Given the description of an element on the screen output the (x, y) to click on. 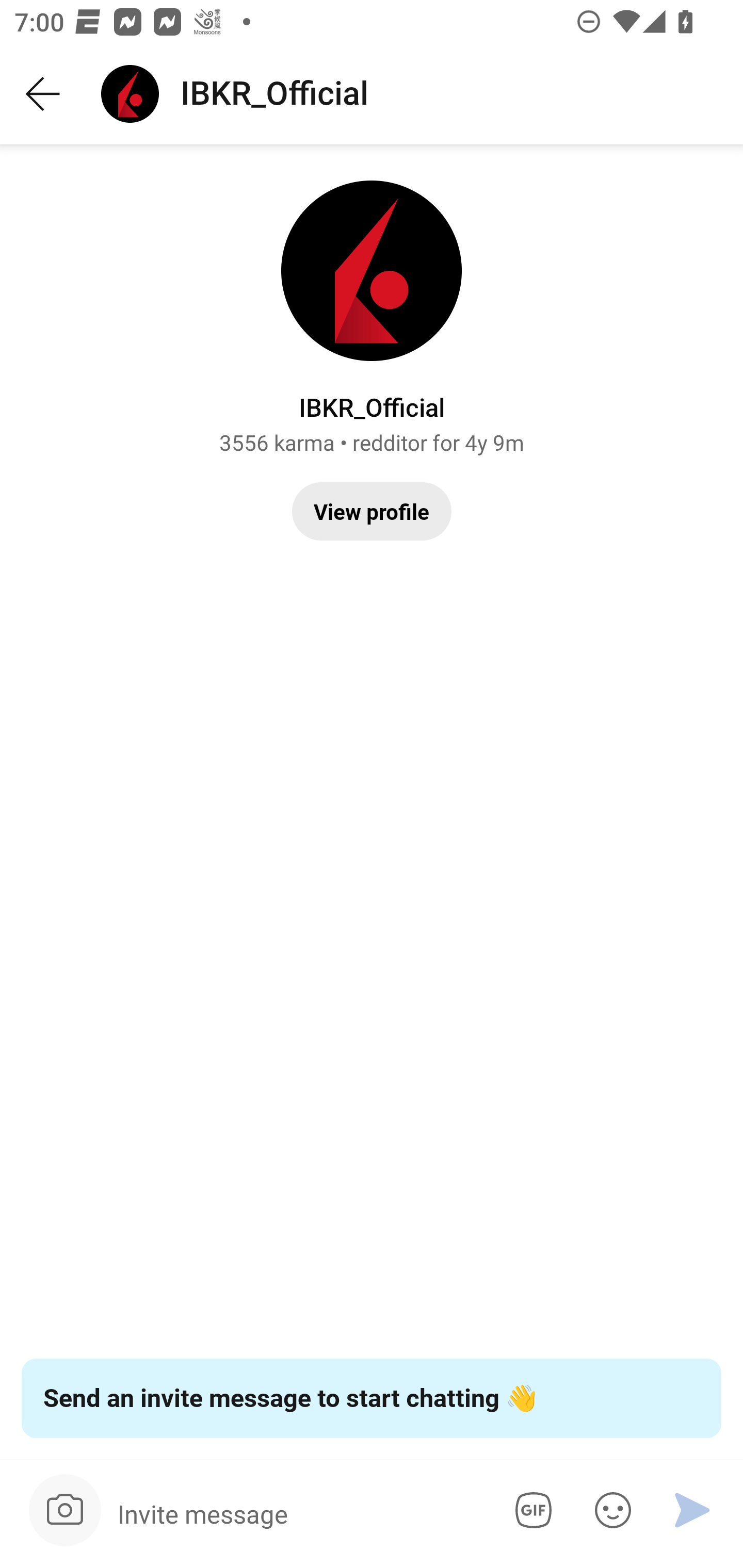
Back (43, 93)
Upload image (64, 1510)
Add GIF (529, 1510)
Add sticker (609, 1510)
Send message (692, 1510)
Message Invite message (298, 1513)
